Given the description of an element on the screen output the (x, y) to click on. 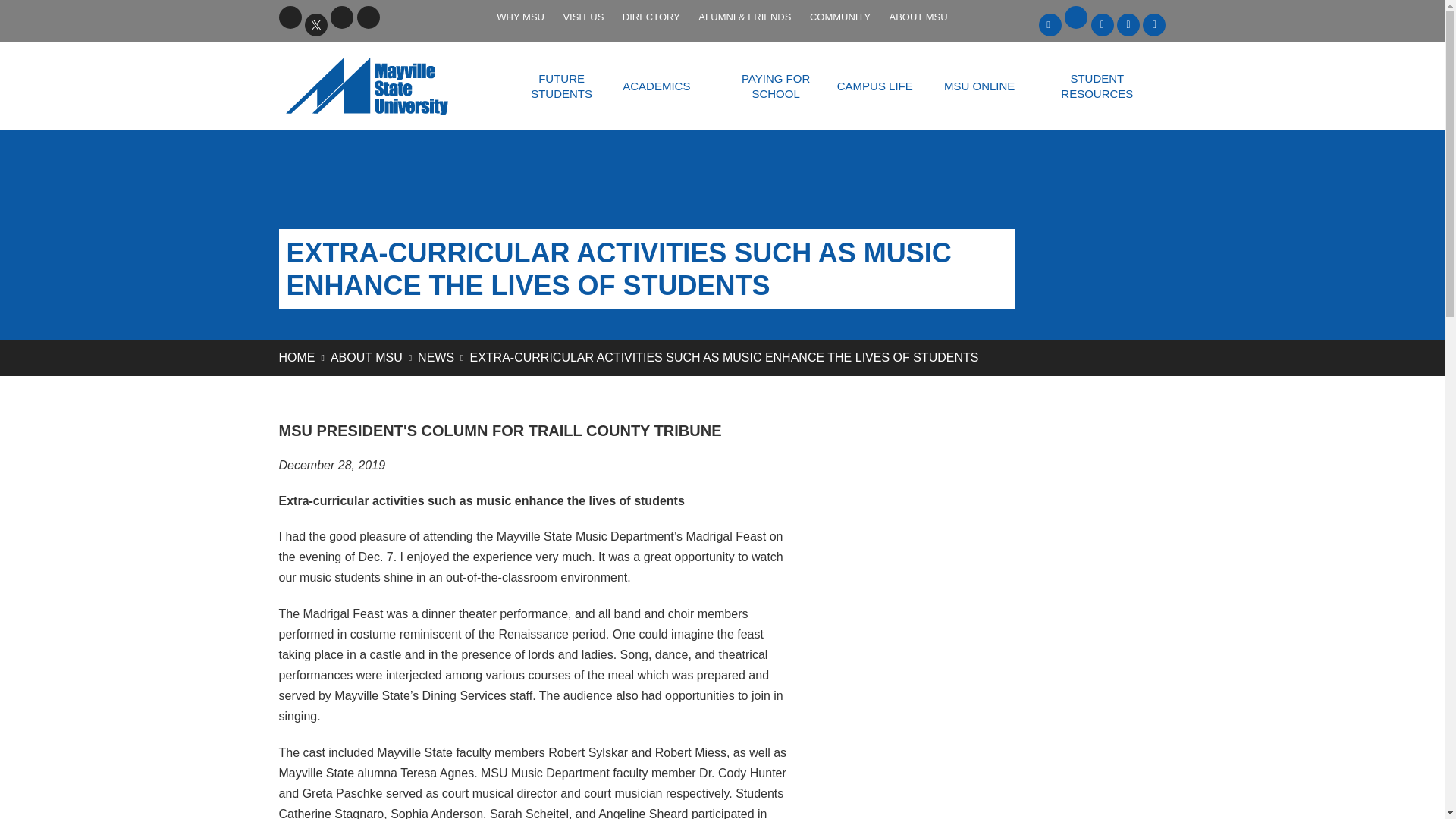
VISIT US (582, 16)
COMMUNITY (839, 16)
Email (1075, 16)
Instagram (368, 16)
WHY MSU (520, 16)
YouTube (341, 16)
BlackBoard (1050, 24)
About MSU (366, 357)
Facebook (290, 16)
